Given the description of an element on the screen output the (x, y) to click on. 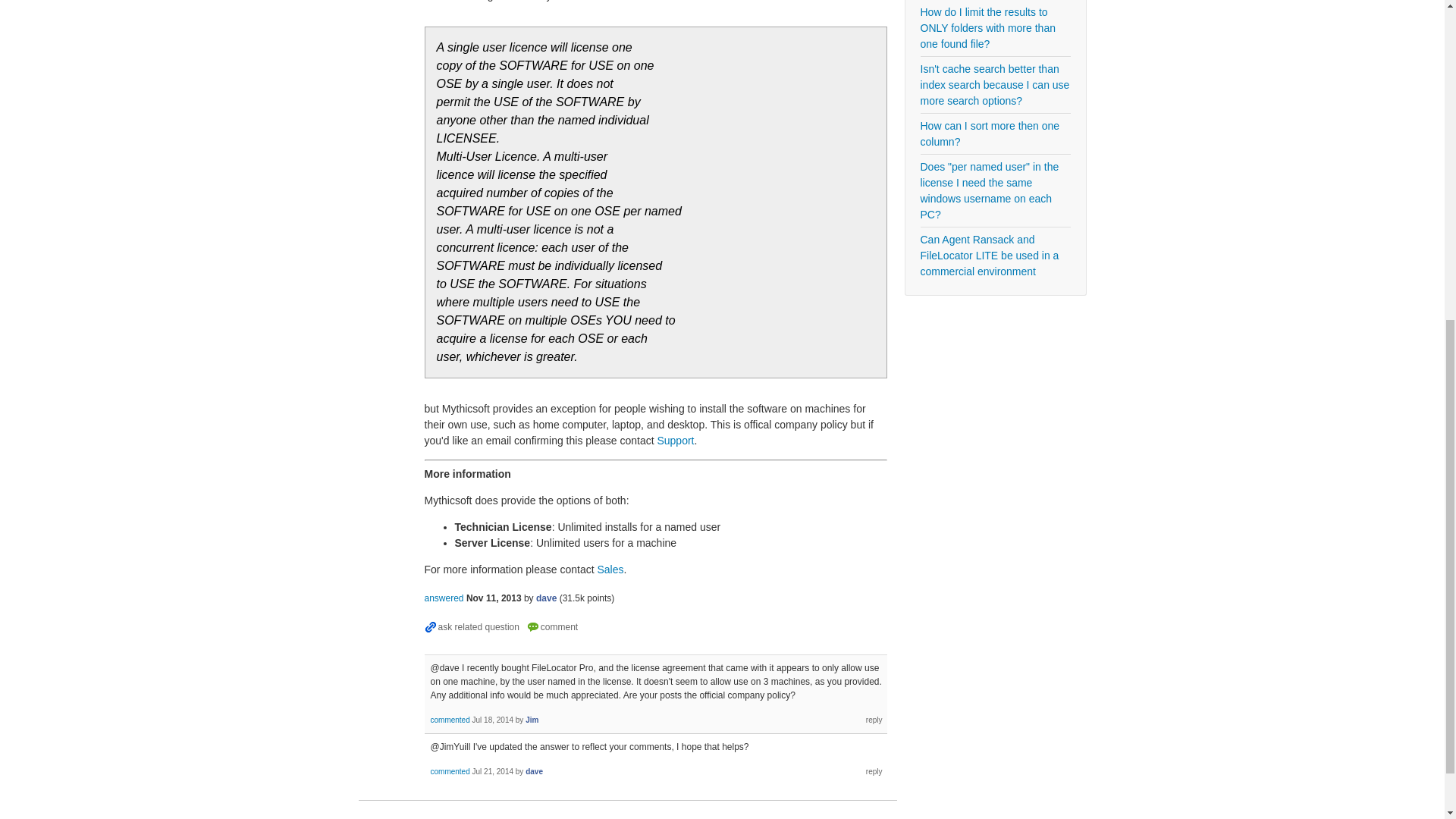
comment (552, 627)
Sales (610, 569)
Reply to this comment (874, 771)
comment (552, 627)
answered (444, 597)
ask related question (472, 627)
Reply to this comment (874, 719)
Support (675, 440)
Add a comment on this answer (552, 627)
How can I sort more then one column? (995, 133)
reply (874, 771)
